Given the description of an element on the screen output the (x, y) to click on. 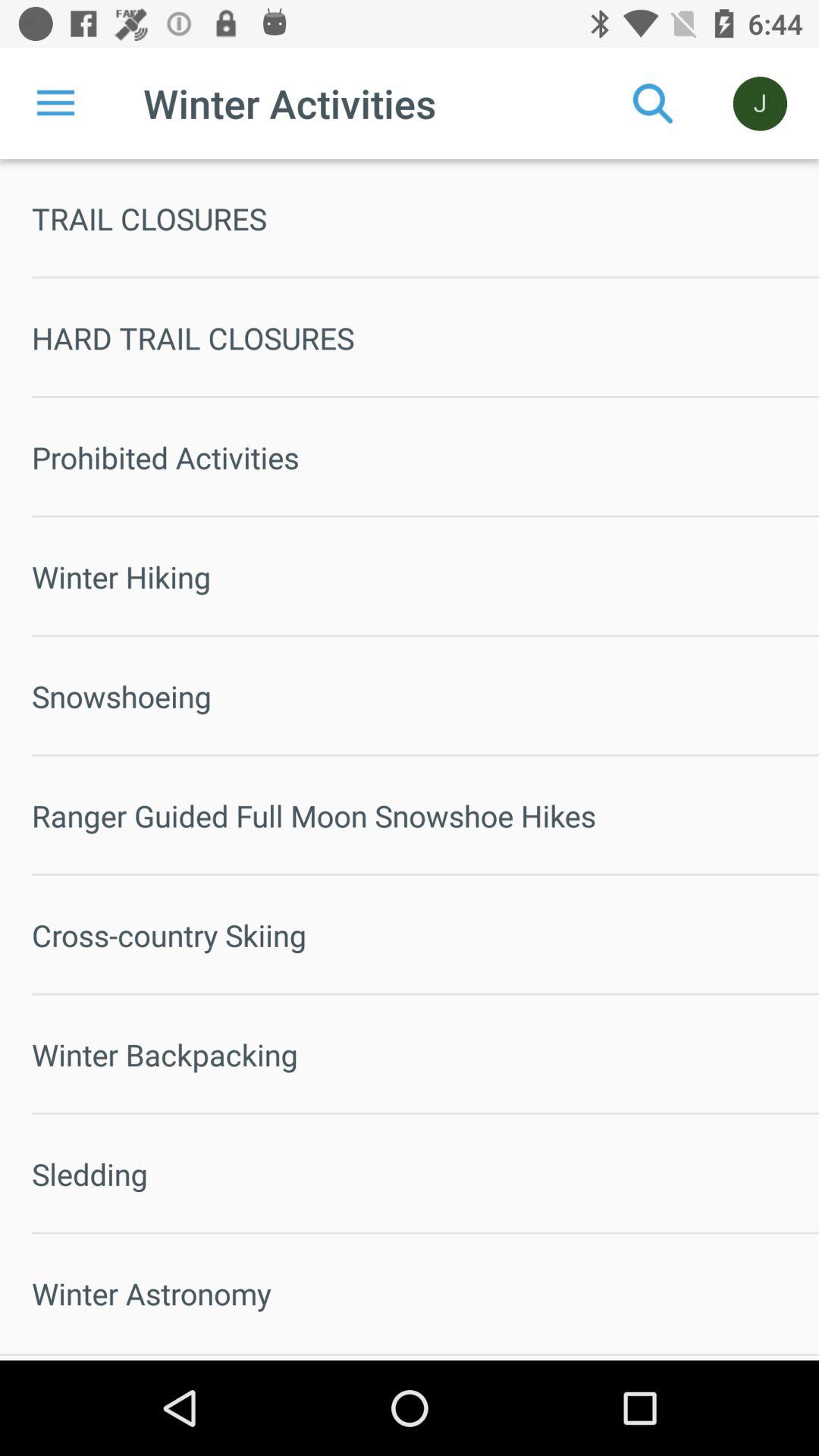
turn on winter backpacking icon (425, 1054)
